Given the description of an element on the screen output the (x, y) to click on. 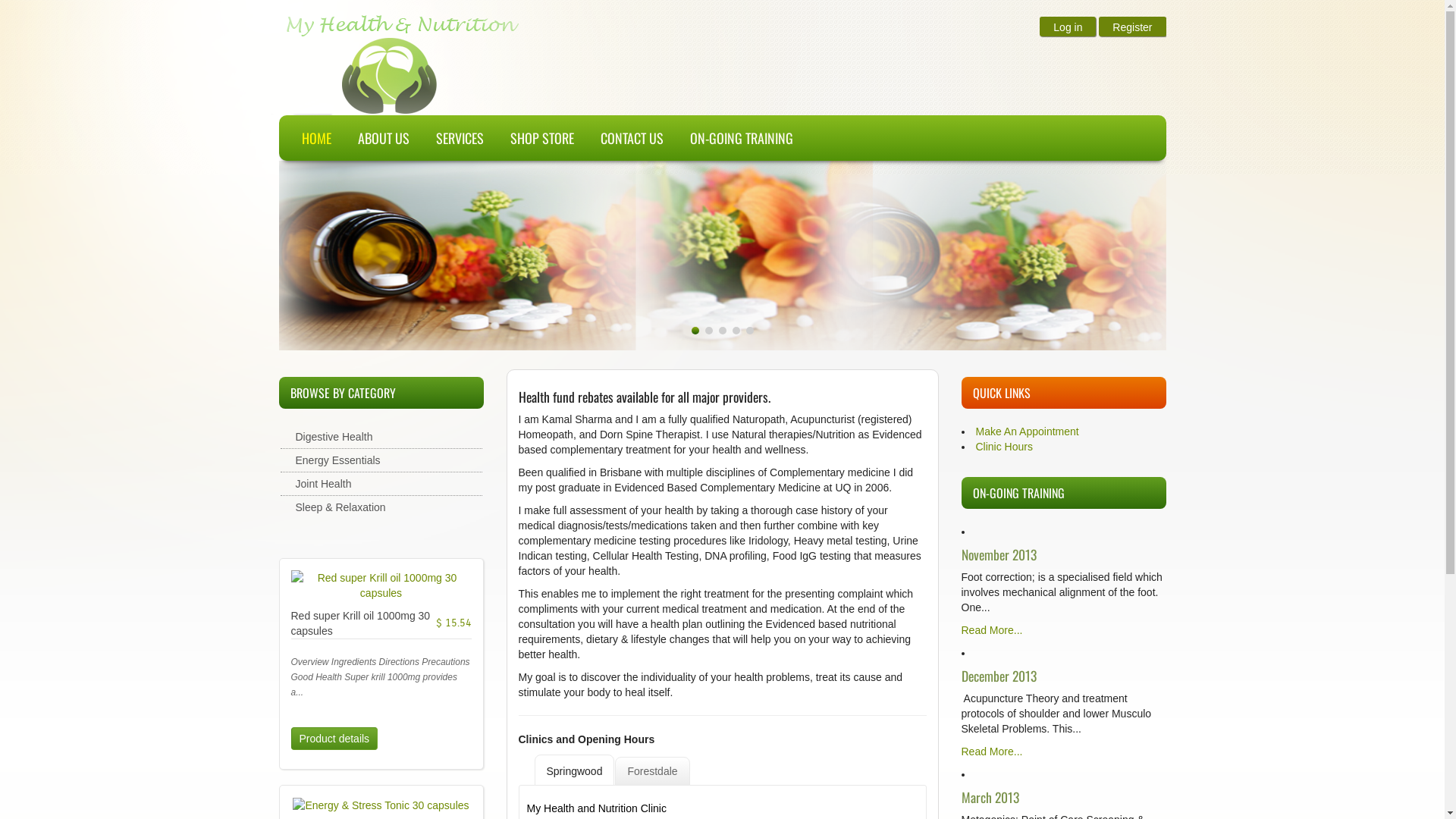
SHOP STORE Element type: text (531, 137)
Red super Krill oil 1000mg 30 capsules Element type: hover (381, 584)
CONTACT US Element type: text (622, 137)
Springwood Element type: text (573, 769)
Joint Health Element type: text (381, 483)
Make An Appointment Element type: text (1026, 431)
Clinic Hours Element type: text (1003, 446)
Energy & Stress Tonic 30 capsules Element type: hover (380, 804)
Product details Element type: text (334, 738)
Digestive Health Element type: text (381, 436)
December 2013 Element type: text (998, 675)
Sleep & Relaxation Element type: text (381, 506)
SERVICES Element type: text (449, 137)
HOME Element type: text (307, 137)
ON-GOING TRAINING Element type: text (732, 137)
Energy Essentials Element type: text (381, 459)
Read More... Element type: text (991, 630)
Red super Krill oil 1000mg 30 capsules Element type: text (360, 623)
March 2013 Element type: text (990, 796)
Read More... Element type: text (991, 751)
ABOUT US Element type: text (374, 137)
November 2013 Element type: text (998, 554)
Forestdale Element type: text (652, 770)
